Given the description of an element on the screen output the (x, y) to click on. 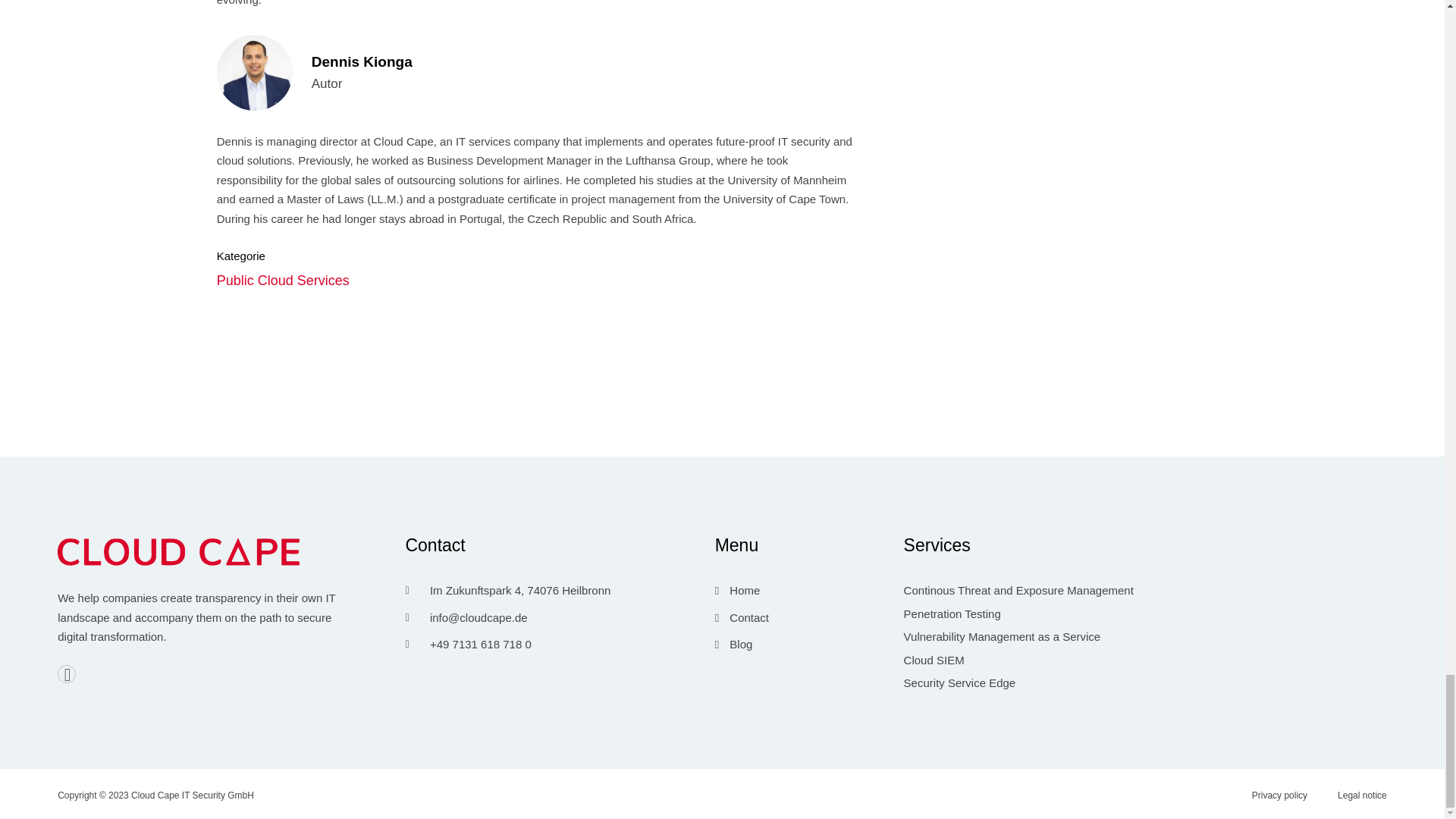
Privacy policy (1287, 794)
Public Cloud Services (805, 617)
Services (534, 279)
Legal notice (1145, 549)
Kategorie (534, 76)
Contact (1362, 794)
